Given the description of an element on the screen output the (x, y) to click on. 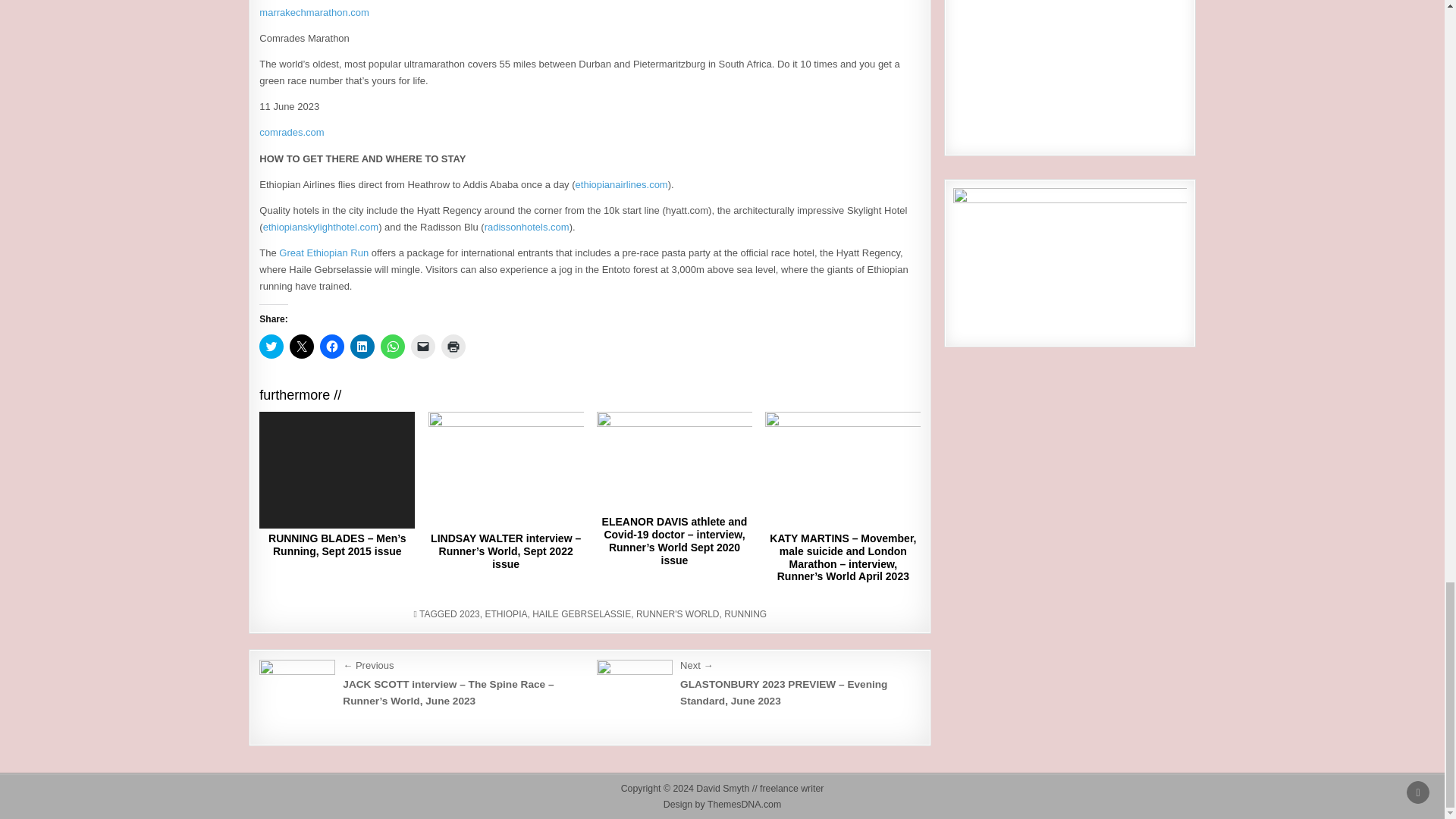
Great Ethiopian Run (323, 252)
ethiopianairlines.com (621, 184)
Click to print (453, 346)
Click to share on X (301, 346)
Click to share on Facebook (331, 346)
Click to share on Twitter (271, 346)
Click to email a link to a friend (422, 346)
ethiopianskylighthotel.com (320, 226)
marrakechmarathon.com (314, 12)
Click to share on LinkedIn (362, 346)
